Given the description of an element on the screen output the (x, y) to click on. 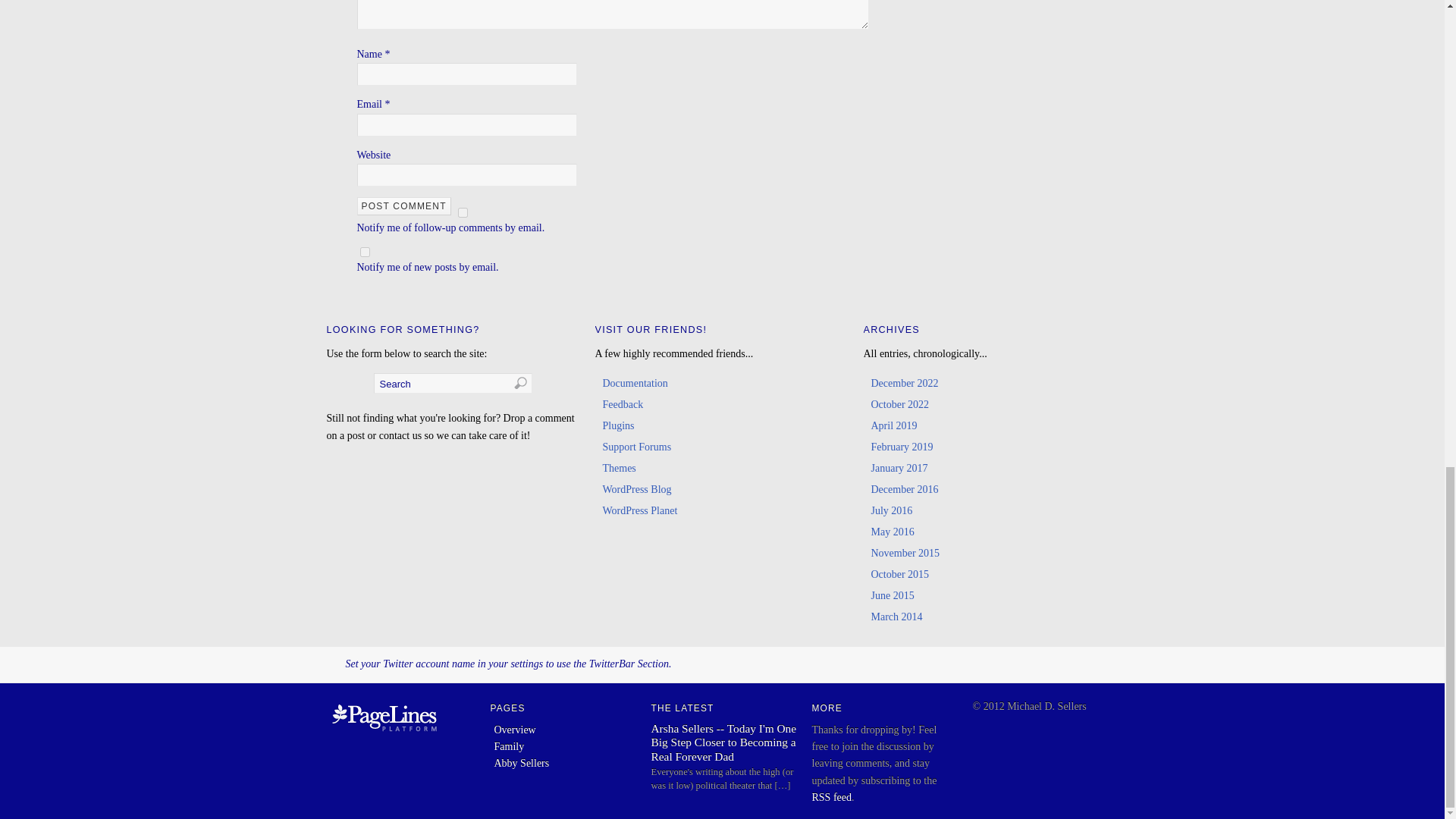
subscribe (364, 252)
Feedback (622, 404)
Themes (618, 468)
Post Comment (402, 206)
Search (451, 383)
Plugins (617, 425)
Search (451, 383)
Post Comment (402, 206)
subscribe (462, 212)
Home (384, 732)
